Given the description of an element on the screen output the (x, y) to click on. 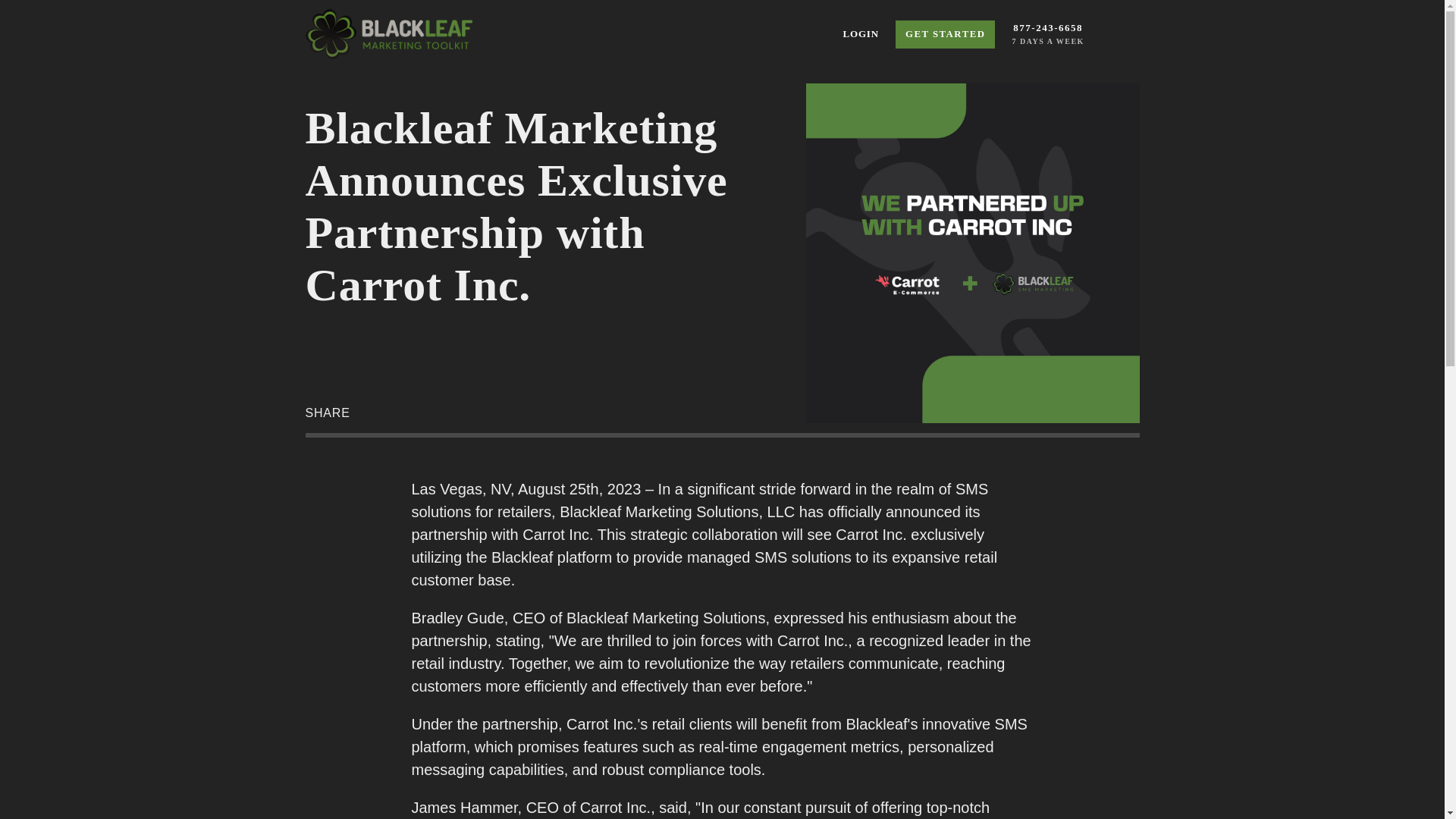
LOGIN (1045, 33)
GET STARTED (860, 33)
